Given the description of an element on the screen output the (x, y) to click on. 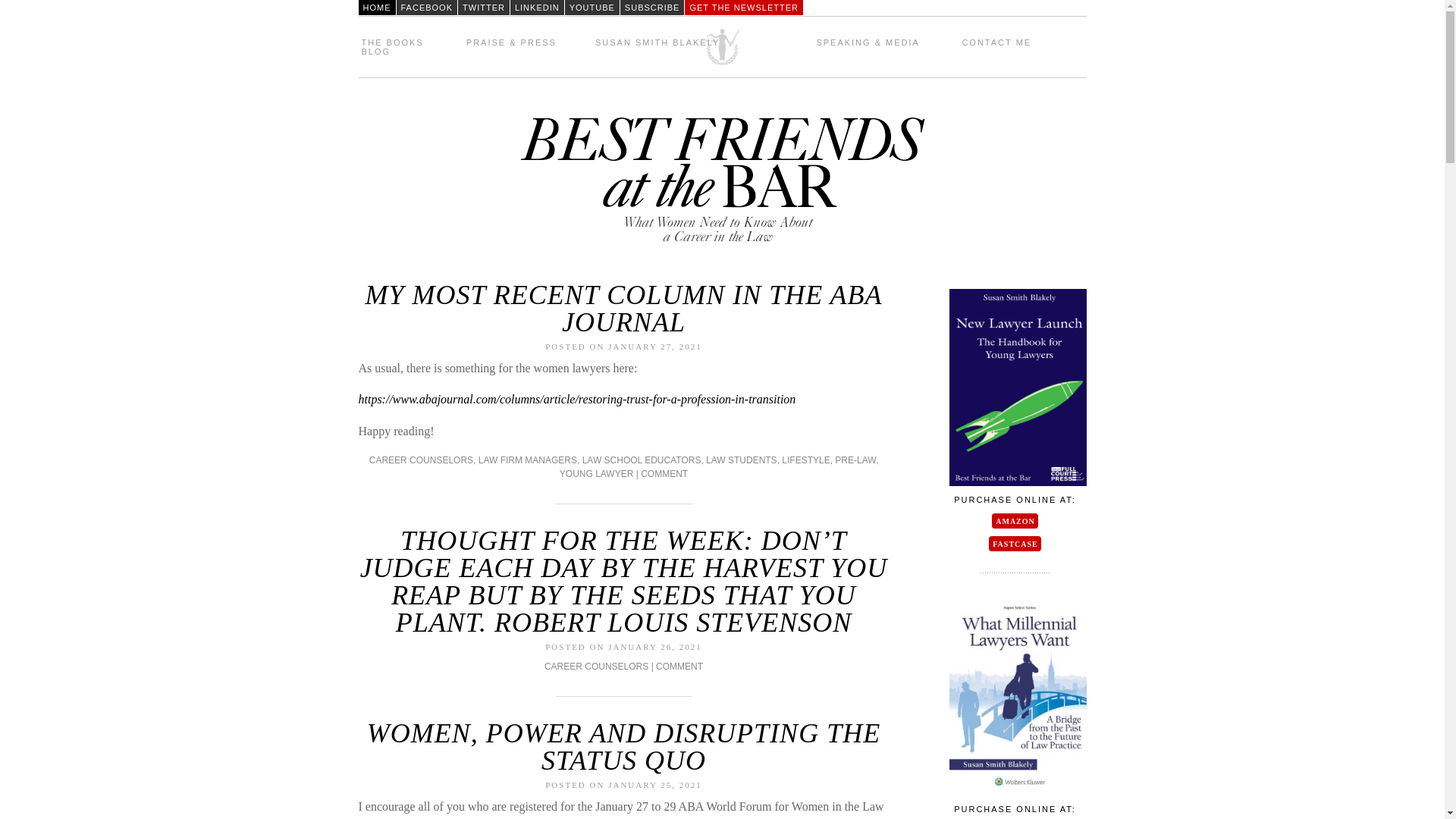
LINKEDIN (537, 7)
GET THE NEWSLETTER (742, 7)
TWITTER (484, 7)
LIFESTYLE (805, 460)
YOUNG LAWYER (596, 473)
LAW STUDENTS (741, 460)
SUBSCRIBE (651, 7)
CONTACT ME (995, 41)
MY MOST RECENT COLUMN IN THE ABA JOURNAL (623, 308)
CAREER COUNSELORS (421, 460)
SUSAN SMITH BLAKELY (657, 41)
LAW SCHOOL EDUCATORS (641, 460)
FACEBOOK (426, 7)
LAW FIRM MANAGERS (527, 460)
Permalink to Women, Power and Disrupting the Status Quo (623, 746)
